Given the description of an element on the screen output the (x, y) to click on. 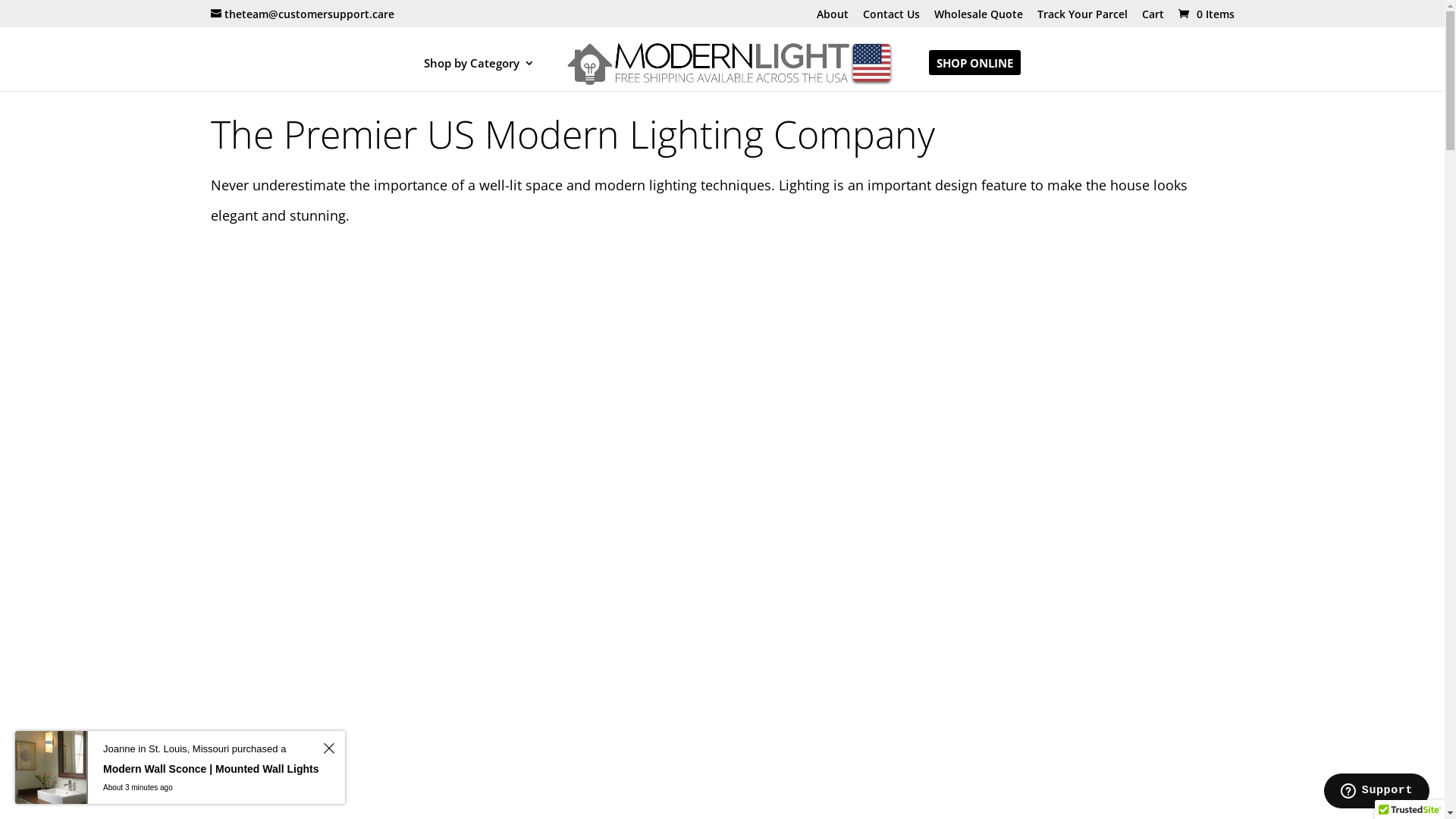
Modern Wall Sconce | Mounted Wall Lights Element type: text (210, 768)
SHOP ONLINE Element type: text (974, 74)
About Element type: text (831, 18)
Contact Us Element type: text (890, 18)
Wholesale Quote Element type: text (978, 18)
Track Your Parcel Element type: text (1082, 18)
Shop by Category Element type: text (478, 74)
Opens a widget where you can find more information Element type: hover (1376, 792)
Cart Element type: text (1153, 18)
0 Items Element type: text (1204, 13)
theteam@customersupport.care Element type: text (302, 13)
